Given the description of an element on the screen output the (x, y) to click on. 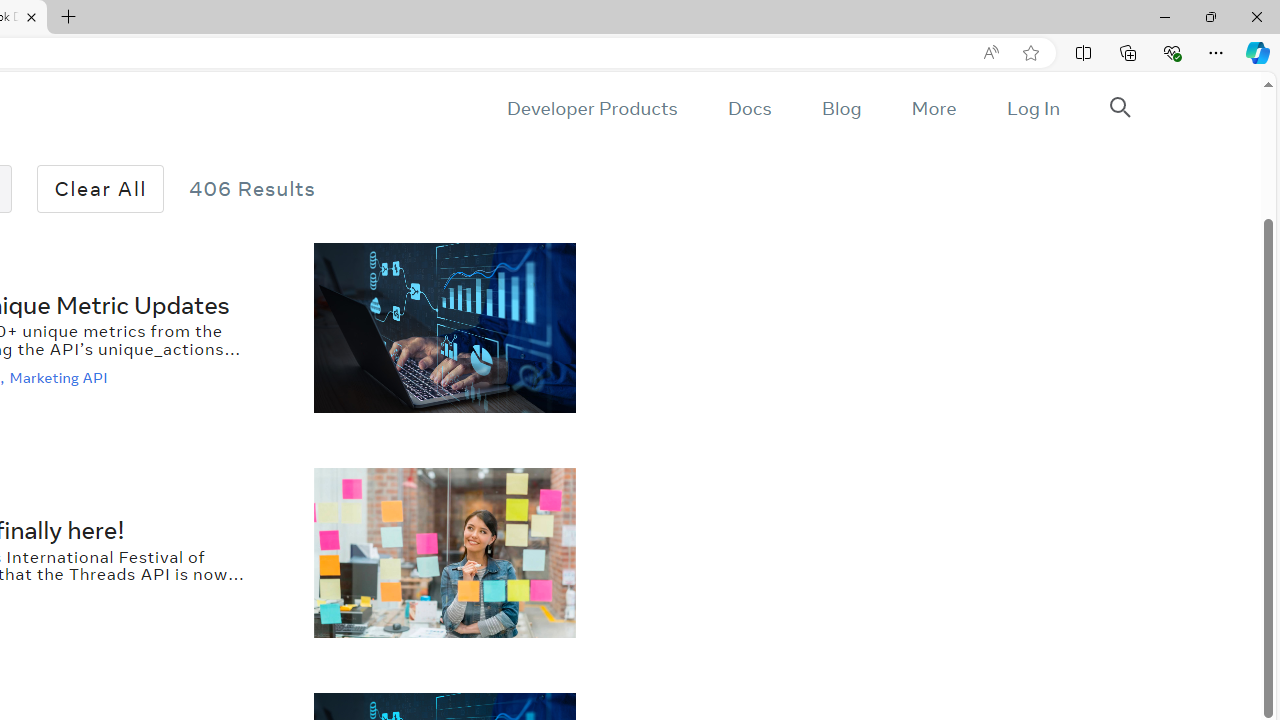
Developer Products (591, 108)
Log In (1032, 108)
More (933, 108)
Docs (749, 108)
Blog (841, 108)
More (933, 108)
Marketing API (60, 377)
